Given the description of an element on the screen output the (x, y) to click on. 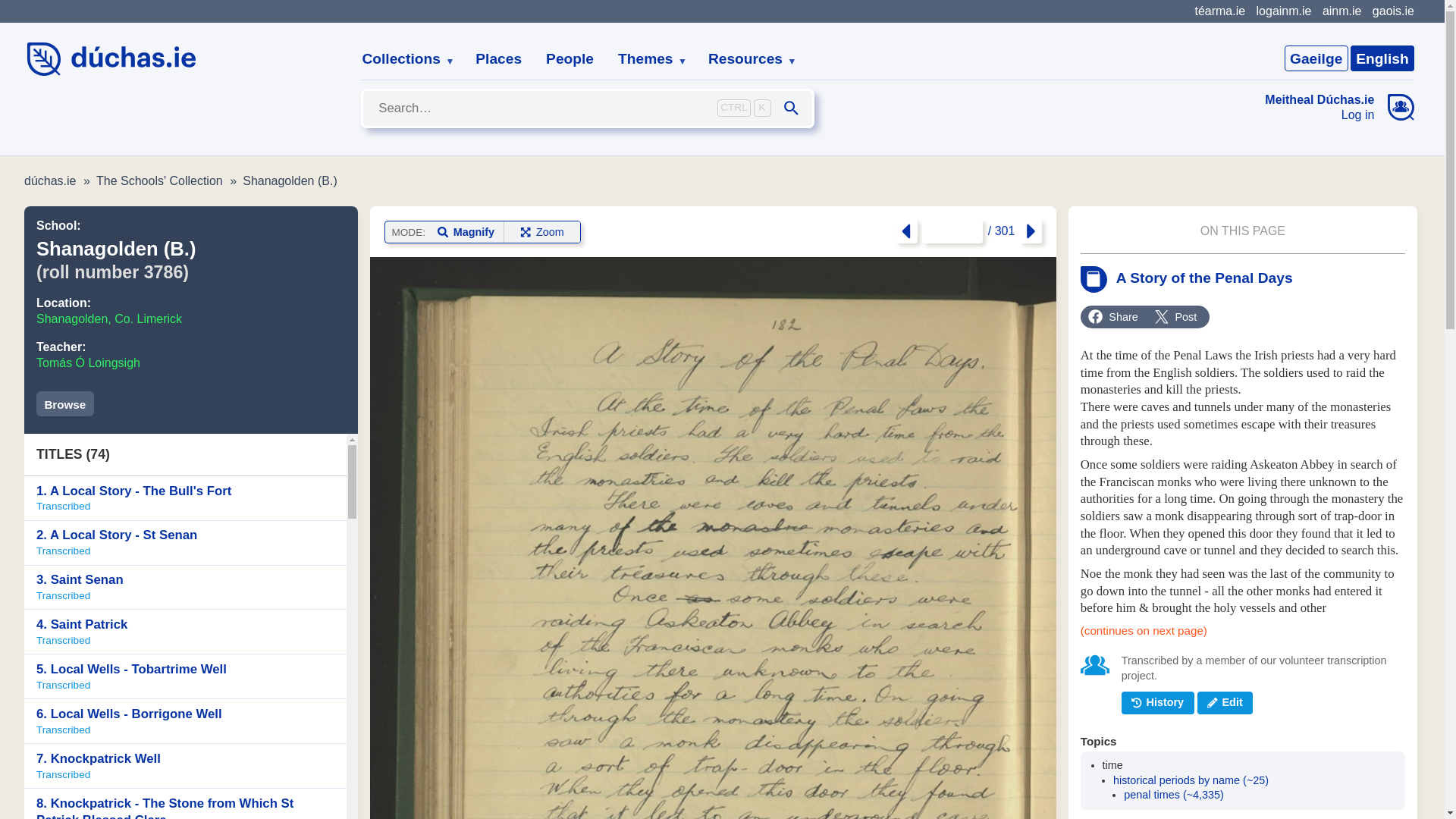
People (569, 58)
Shanagolden, Co. Limerick (109, 318)
logainm.ie (1283, 11)
ainm.ie (1341, 11)
The Schools' Collection (159, 180)
English (185, 497)
Log in (1382, 58)
Resources (1319, 114)
gaois.ie (745, 59)
